Given the description of an element on the screen output the (x, y) to click on. 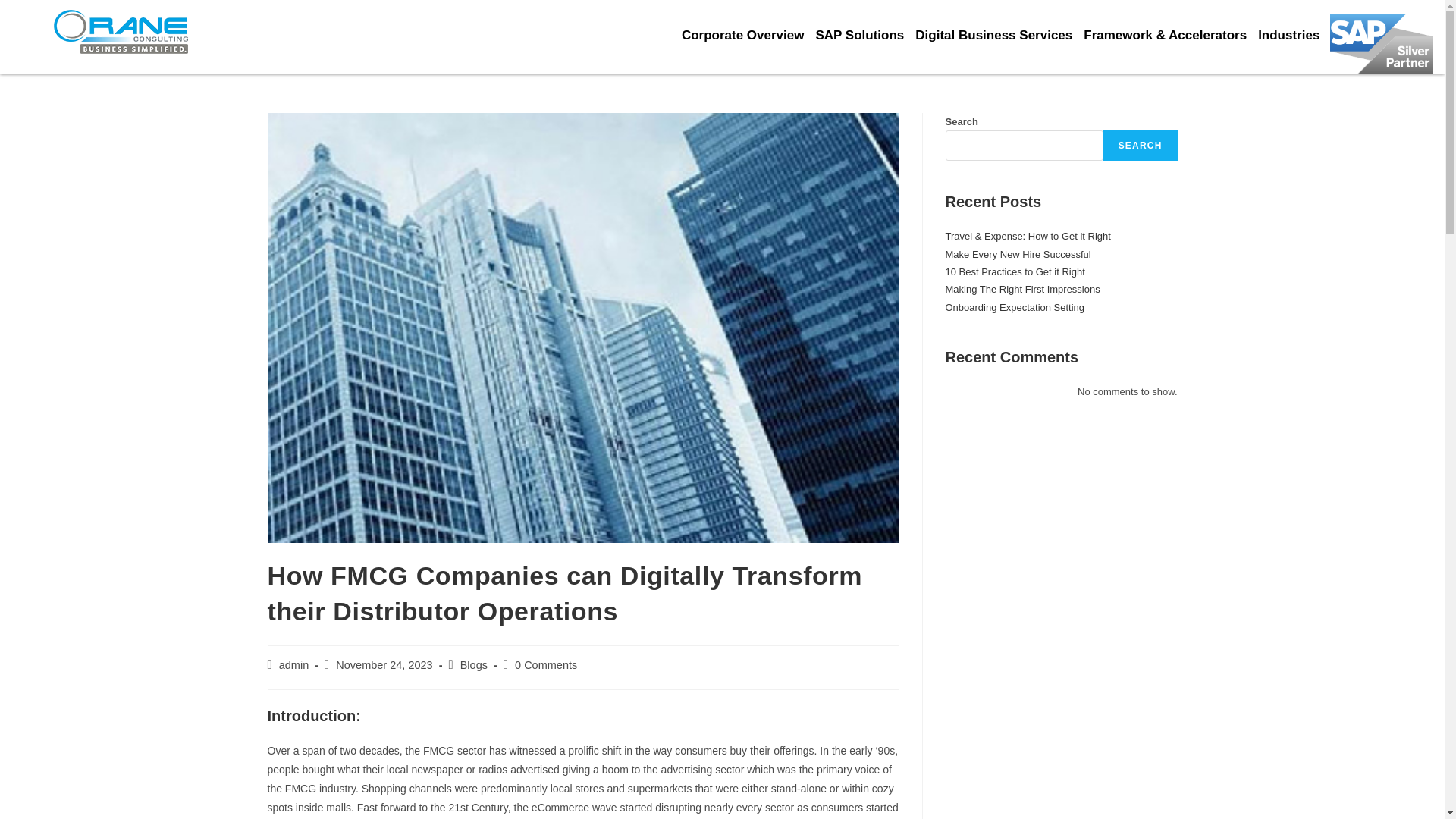
Industries (1293, 35)
Posts by admin (293, 664)
Corporate Overview (748, 35)
Digital Business Services (999, 35)
SAP Solutions (865, 35)
